Given the description of an element on the screen output the (x, y) to click on. 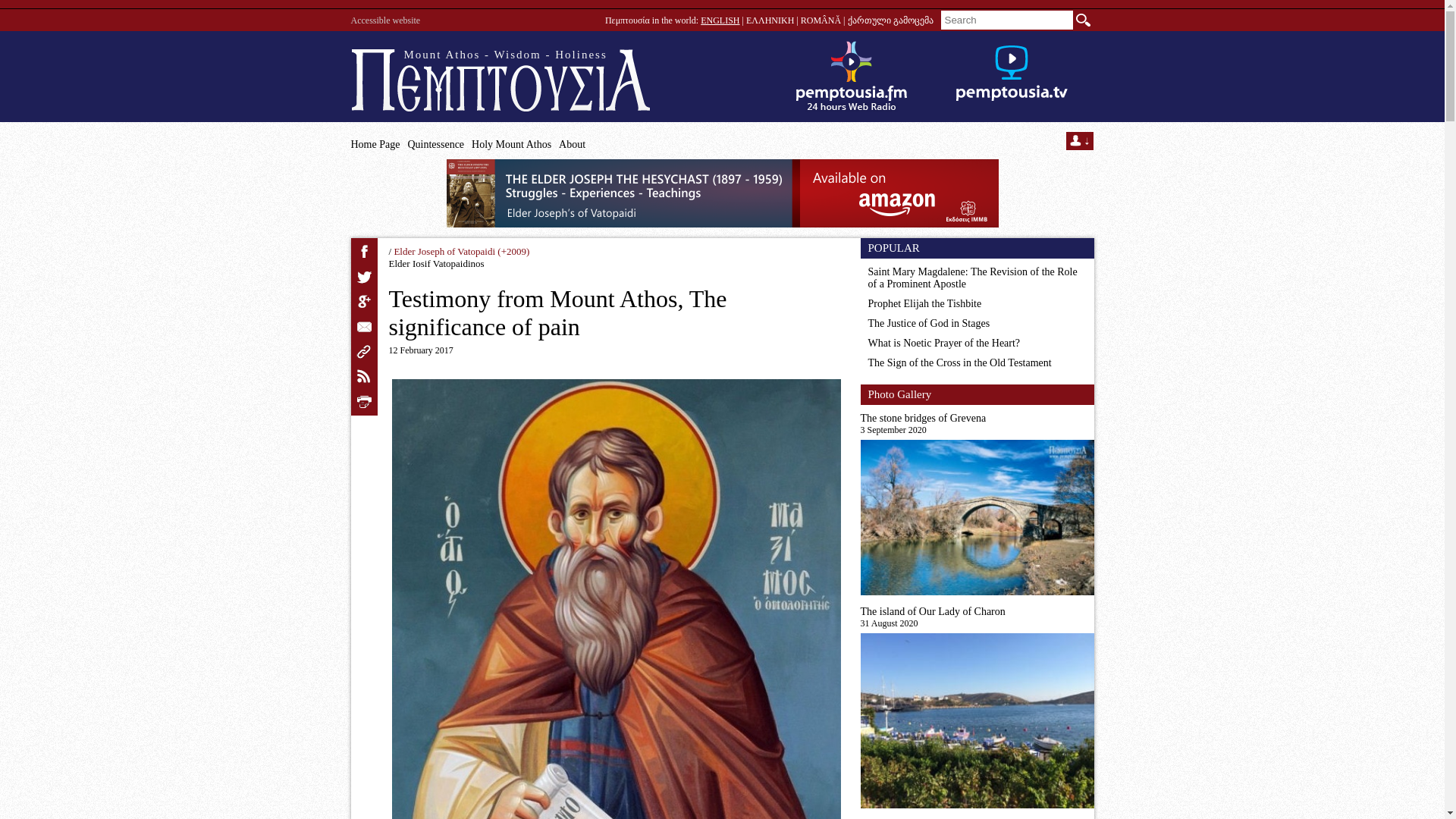
Holy Mount Athos (511, 143)
Accessible website (385, 20)
The stone bridges of Grevena (976, 418)
Go to accessible website (385, 20)
Home Page (499, 80)
Photo Gallery (899, 394)
Home Page (374, 143)
Get short URL (364, 351)
What is Noetic Prayer of the Heart? (943, 342)
Prophet Elijah the Tishbite (924, 303)
Quintessence (435, 143)
About (572, 143)
Elder Iosif Vatopaidinos (435, 263)
Print This Page (364, 401)
Mount Athos - Wisdom - Holiness (499, 80)
